Given the description of an element on the screen output the (x, y) to click on. 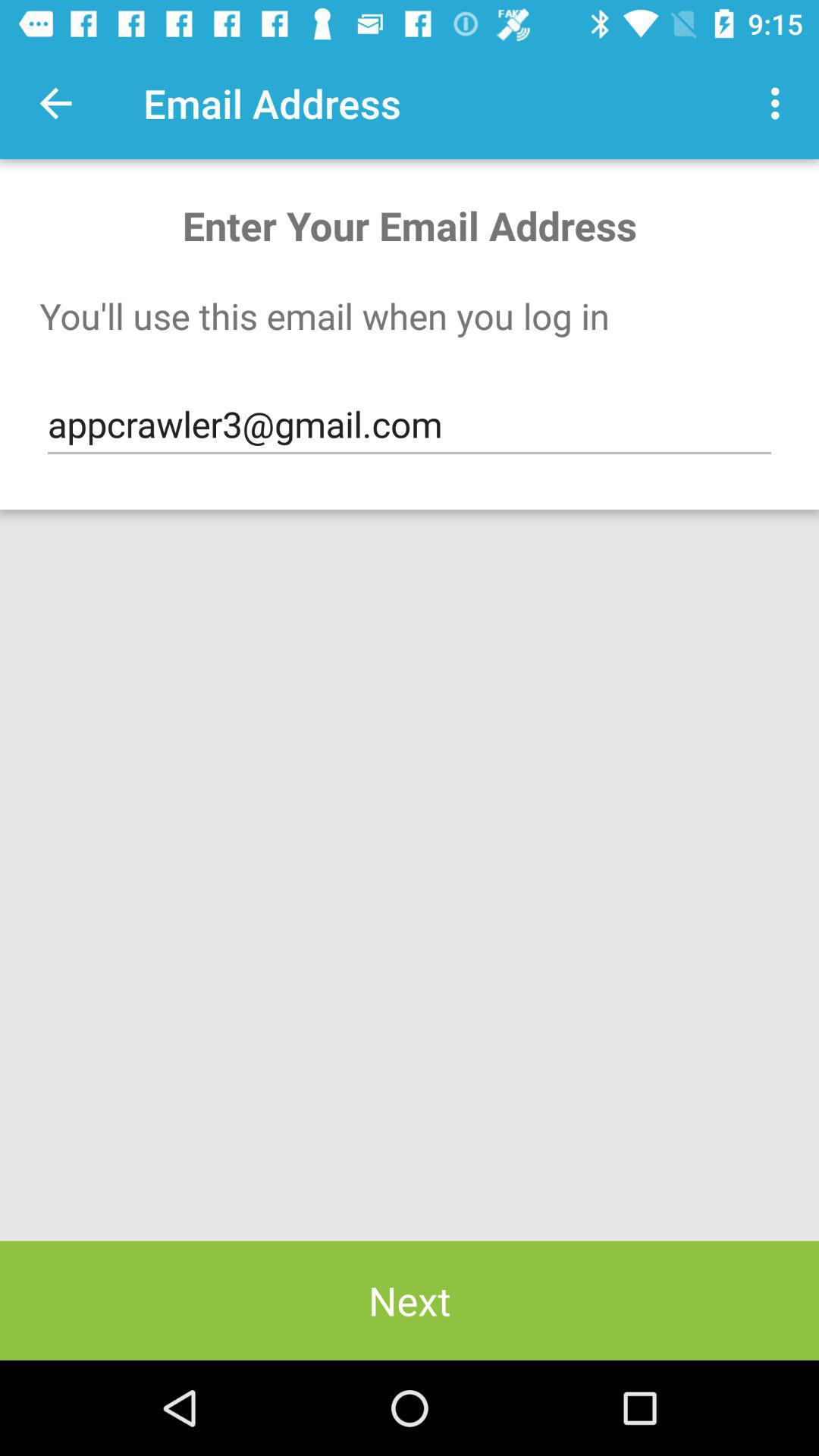
flip to the appcrawler3@gmail.com (409, 424)
